Given the description of an element on the screen output the (x, y) to click on. 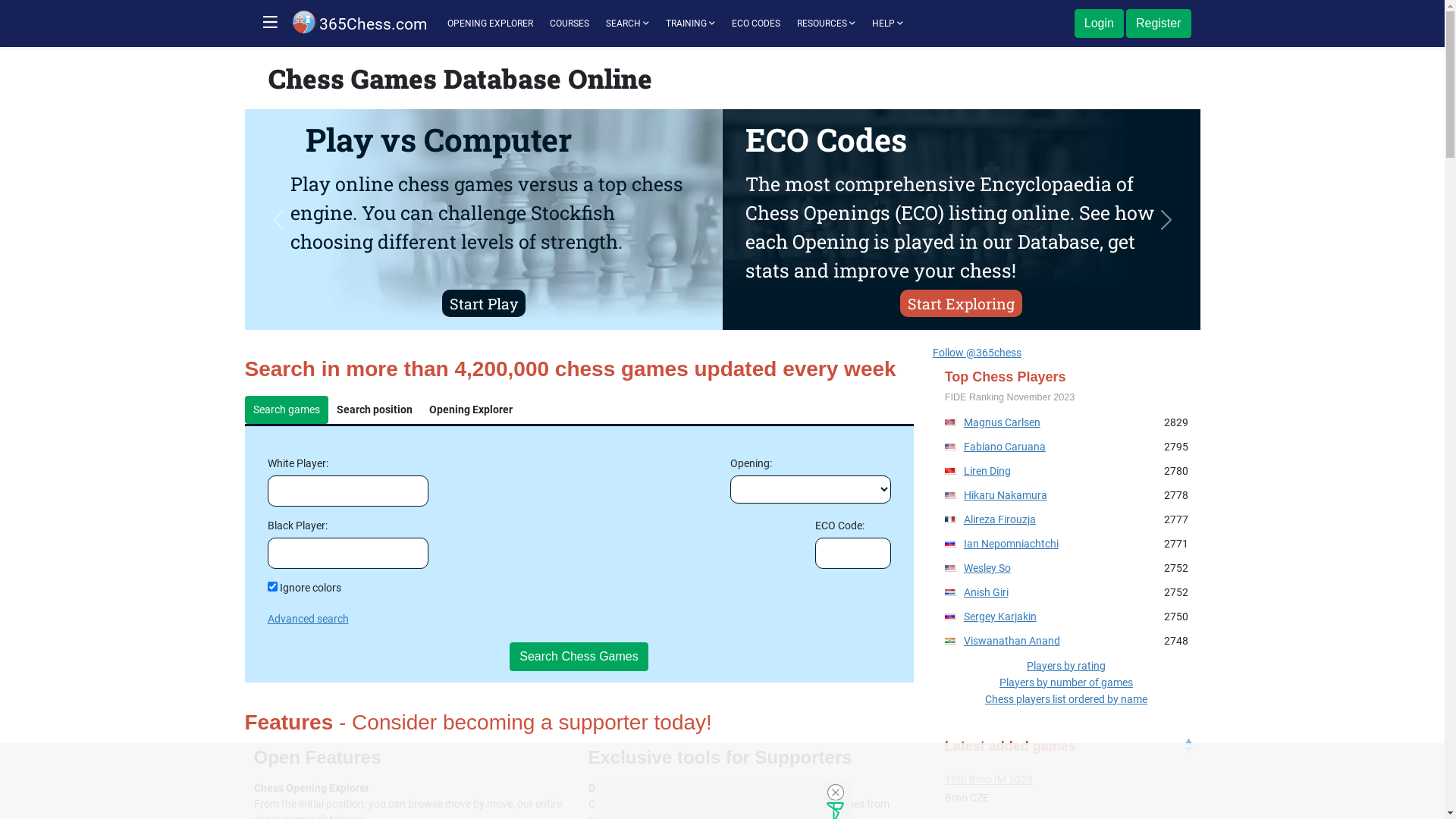
RESOURCES Element type: text (825, 23)
Players by rating Element type: text (1065, 665)
Advanced search Element type: text (307, 618)
SEARCH Element type: text (626, 23)
Search games Element type: text (285, 409)
Ian Nepomniachtchi Element type: text (1010, 543)
Liren Ding Element type: text (986, 470)
RUDAR 2 GM 2023 Element type: text (1066, 779)
Previous Element type: text (277, 219)
Viswanathan Anand Element type: text (1011, 640)
Next Element type: text (1165, 219)
Start Search Element type: text (482, 302)
Players by number of games Element type: text (1065, 682)
TRAINING Element type: text (690, 23)
COURSES Element type: text (568, 23)
Chess players list ordered by name Element type: text (1066, 699)
Opening Explorer Element type: text (470, 409)
Wesley So Element type: text (986, 567)
ECO CODES Element type: text (754, 23)
Magnus Carlsen Element type: text (1001, 422)
Start Training Element type: text (960, 302)
Alireza Firouzja Element type: text (999, 519)
Login Element type: text (1098, 23)
Fabiano Caruana Element type: text (1004, 446)
365Chess.com Element type: text (359, 24)
Register Element type: text (1158, 23)
Sergey Karjakin Element type: text (999, 616)
OPENING EXPLORER Element type: text (490, 23)
Anish Giri Element type: text (985, 592)
Follow @365chess Element type: text (976, 352)
Hikaru Nakamura Element type: text (1005, 495)
Search position Element type: text (374, 409)
Search Chess Games Element type: text (578, 656)
HELP Element type: text (887, 23)
